Given the description of an element on the screen output the (x, y) to click on. 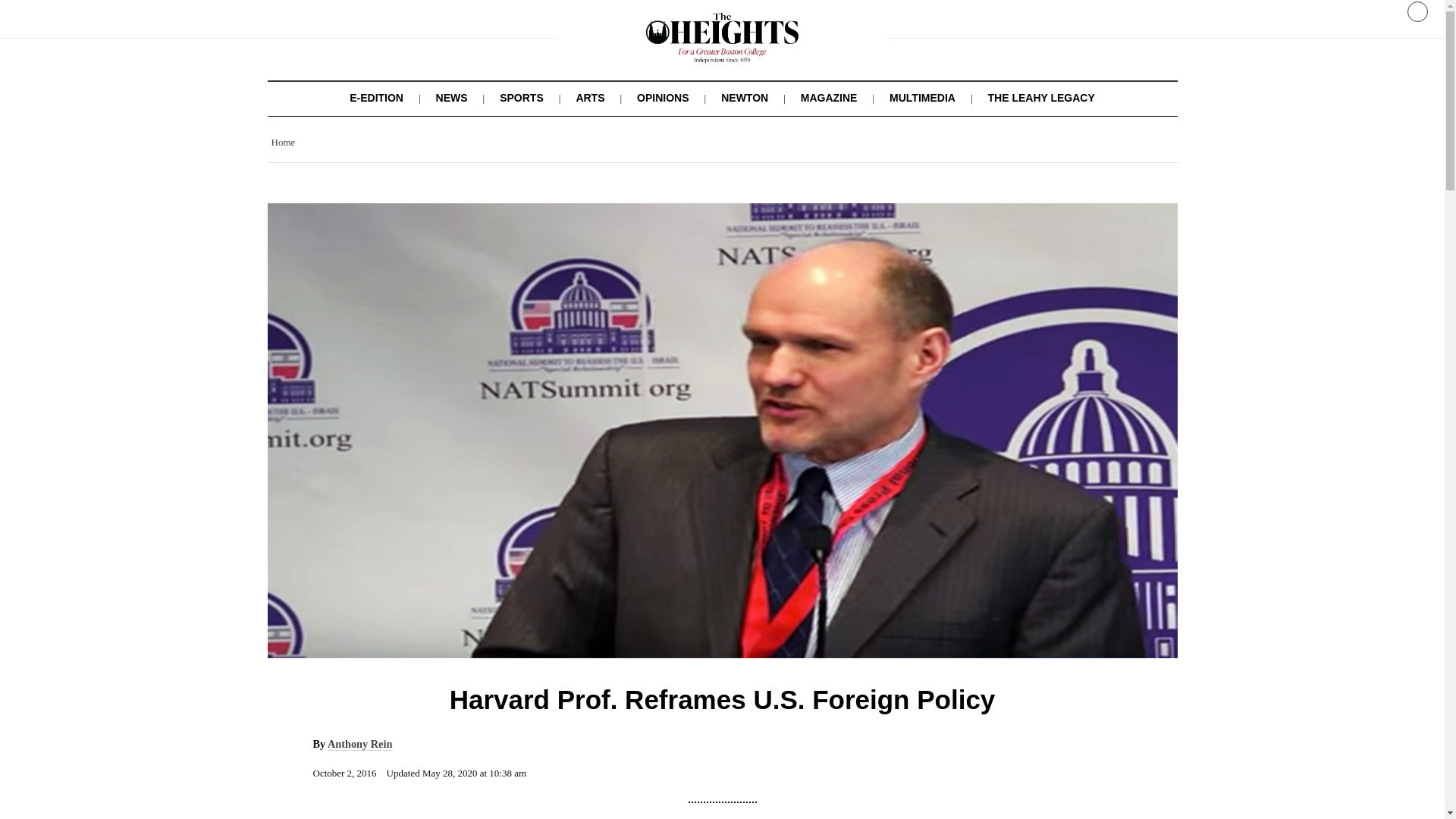
Anthony Rein (359, 744)
Home (282, 142)
The Heights (721, 52)
ARTS (589, 97)
THE LEAHY LEGACY (1040, 97)
MULTIMEDIA (922, 97)
E-EDITION (376, 97)
SPORTS (521, 97)
NEWTON (744, 97)
OPINIONS (662, 97)
NEWS (451, 97)
MAGAZINE (828, 97)
